Given the description of an element on the screen output the (x, y) to click on. 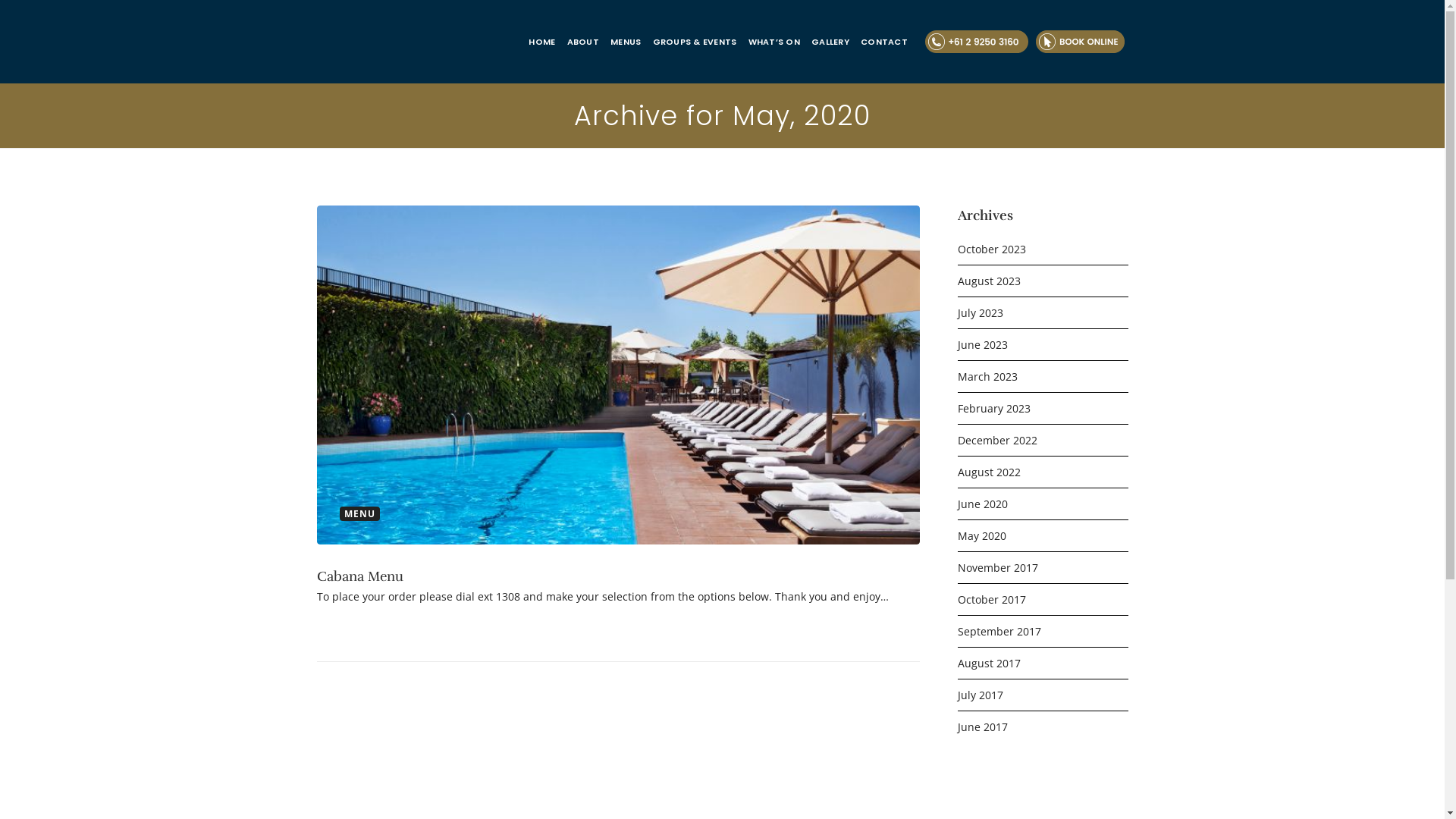
October 2023 Element type: text (1042, 248)
June 2023 Element type: text (1042, 344)
December 2022 Element type: text (1042, 439)
March 2023 Element type: text (1042, 376)
February 2023 Element type: text (1042, 407)
July 2023 Element type: text (1042, 312)
HOME Element type: text (541, 41)
October 2017 Element type: text (1042, 599)
GALLERY Element type: text (830, 41)
May 2020 Element type: text (1042, 535)
June 2017 Element type: text (1042, 726)
August 2023 Element type: text (1042, 280)
August 2017 Element type: text (1042, 662)
GROUPS & EVENTS Element type: text (694, 41)
September 2017 Element type: text (1042, 630)
August 2022 Element type: text (1042, 471)
MENU Element type: text (359, 513)
June 2020 Element type: text (1042, 503)
November 2017 Element type: text (1042, 567)
MENUS Element type: text (625, 41)
CONTACT Element type: text (883, 41)
July 2017 Element type: text (1042, 694)
ABOUT Element type: text (583, 41)
Cabana Menu Element type: text (359, 575)
